Given the description of an element on the screen output the (x, y) to click on. 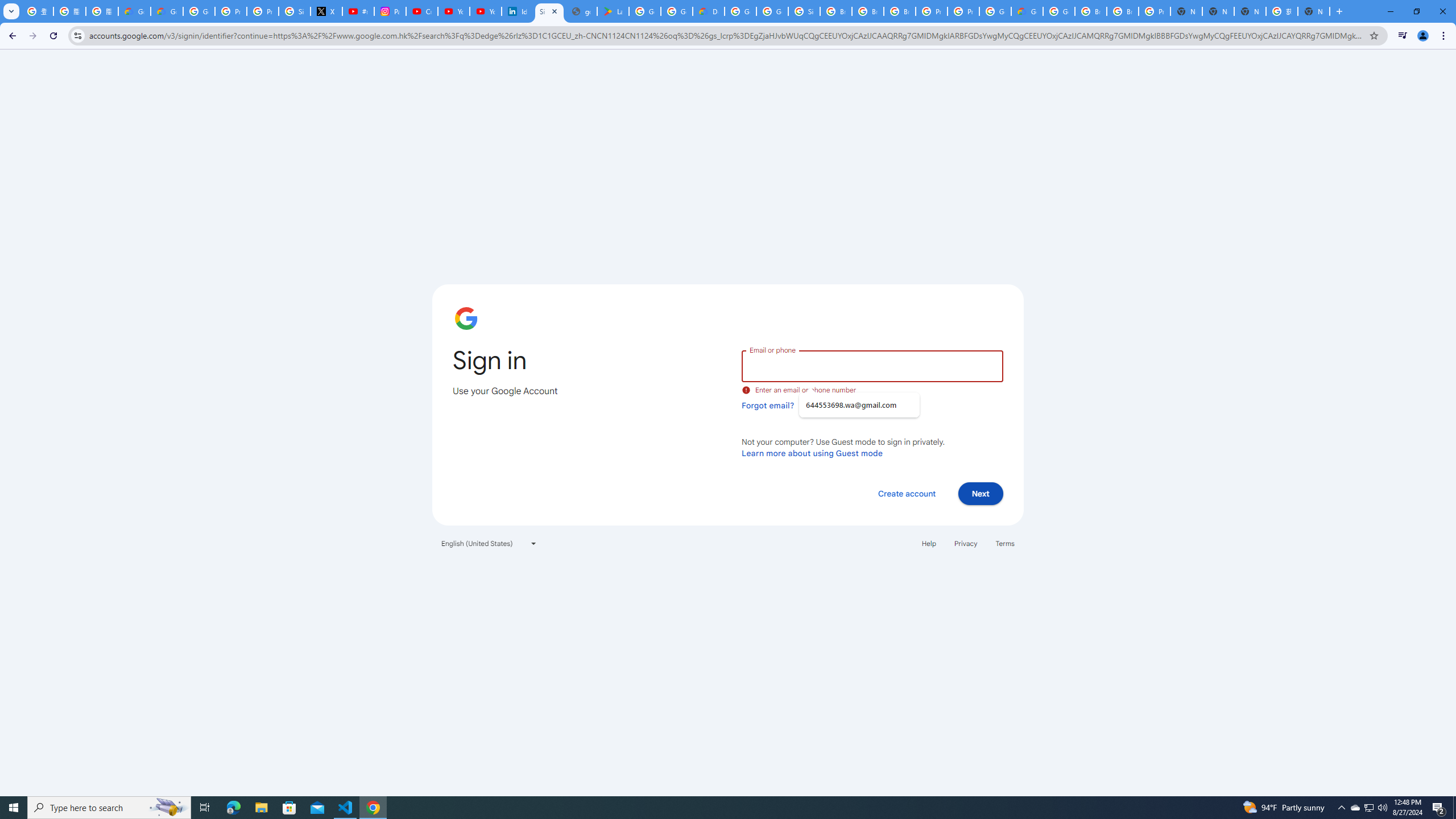
Browse Chrome as a guest - Computer - Google Chrome Help (899, 11)
Browse Chrome as a guest - Computer - Google Chrome Help (1123, 11)
Google Cloud Platform (1059, 11)
#nbabasketballhighlights - YouTube (358, 11)
Google Cloud Privacy Notice (134, 11)
Last Shelter: Survival - Apps on Google Play (613, 11)
Create account (905, 493)
